Given the description of an element on the screen output the (x, y) to click on. 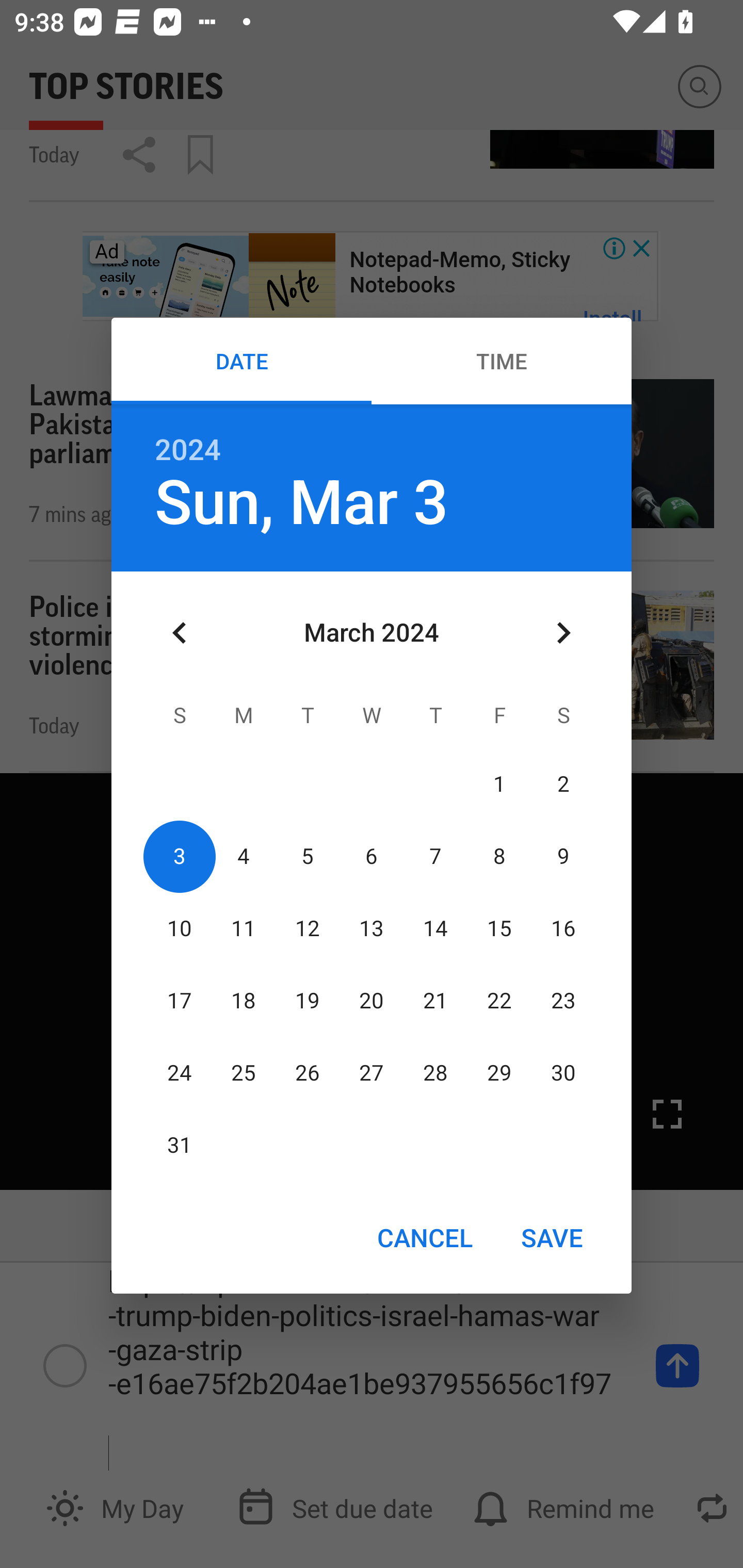
Date DATE (241, 361)
Time TIME (501, 361)
2024 (187, 449)
Sun, Mar 3 (301, 503)
Previous month (178, 632)
Next month (563, 632)
1 01 March 2024 (499, 783)
2 02 March 2024 (563, 783)
3 03 March 2024 (179, 856)
4 04 March 2024 (243, 856)
5 05 March 2024 (307, 856)
6 06 March 2024 (371, 856)
7 07 March 2024 (435, 856)
8 08 March 2024 (499, 856)
9 09 March 2024 (563, 856)
10 10 March 2024 (179, 928)
11 11 March 2024 (243, 928)
12 12 March 2024 (307, 928)
13 13 March 2024 (371, 928)
14 14 March 2024 (435, 928)
15 15 March 2024 (499, 928)
16 16 March 2024 (563, 928)
17 17 March 2024 (179, 1001)
18 18 March 2024 (243, 1001)
19 19 March 2024 (307, 1001)
20 20 March 2024 (371, 1001)
21 21 March 2024 (435, 1001)
22 22 March 2024 (499, 1001)
23 23 March 2024 (563, 1001)
24 24 March 2024 (179, 1074)
25 25 March 2024 (243, 1074)
26 26 March 2024 (307, 1074)
27 27 March 2024 (371, 1074)
28 28 March 2024 (435, 1074)
29 29 March 2024 (499, 1074)
30 30 March 2024 (563, 1074)
31 31 March 2024 (179, 1146)
CANCEL (424, 1236)
SAVE (552, 1236)
